Given the description of an element on the screen output the (x, y) to click on. 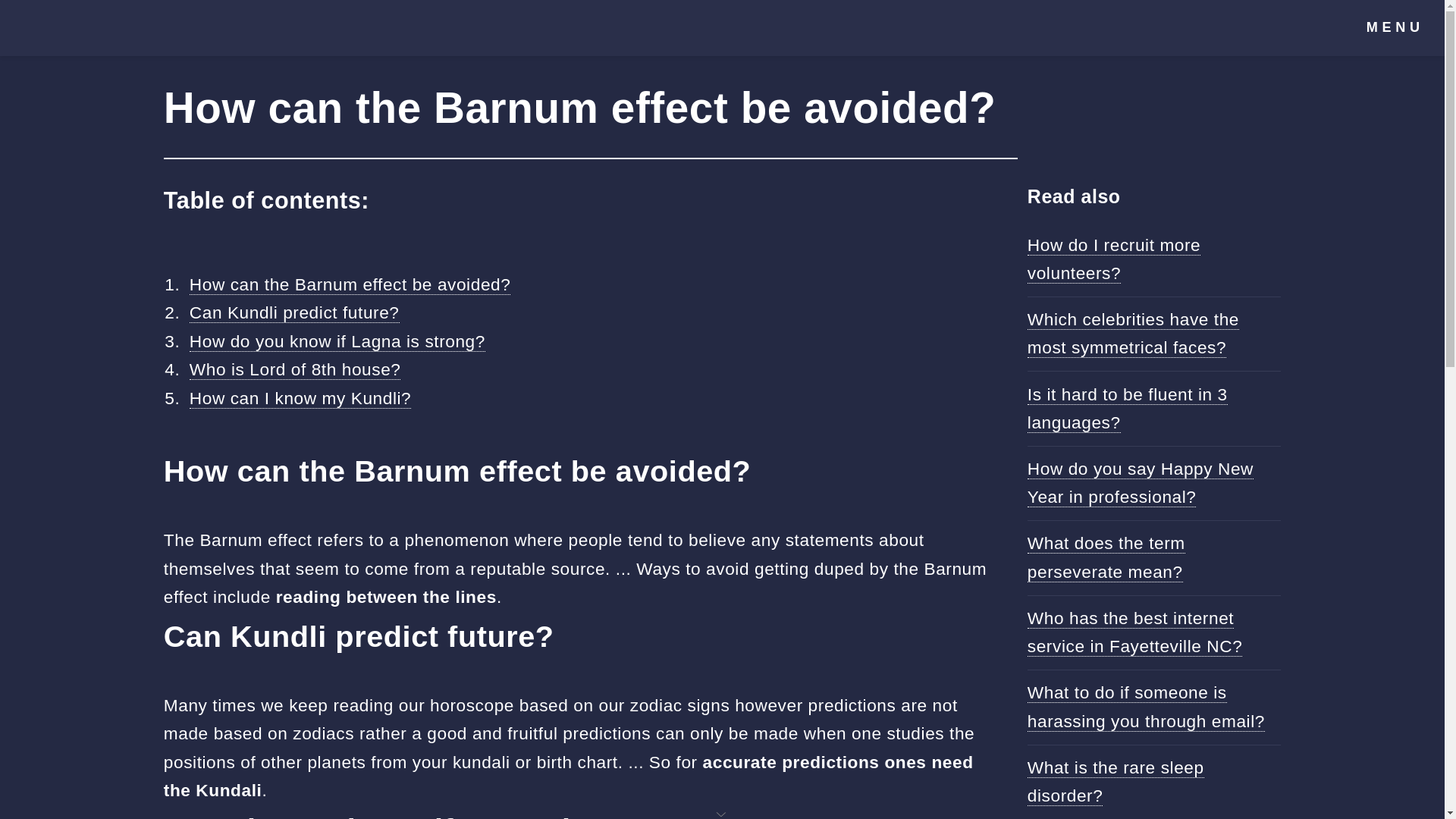
What to do if someone is harassing you through email? (1146, 706)
How can I know my Kundli? (299, 398)
Who has the best internet service in Fayetteville NC? (1135, 632)
How can the Barnum effect be avoided? (350, 284)
Can Kundli predict future? (293, 312)
How do I recruit more volunteers? (1113, 259)
Ad.Plus Advertising (722, 813)
How do you say Happy New Year in professional? (1140, 482)
Is it hard to be fluent in 3 languages? (1127, 408)
Which celebrities have the most symmetrical faces? (1133, 333)
